Given the description of an element on the screen output the (x, y) to click on. 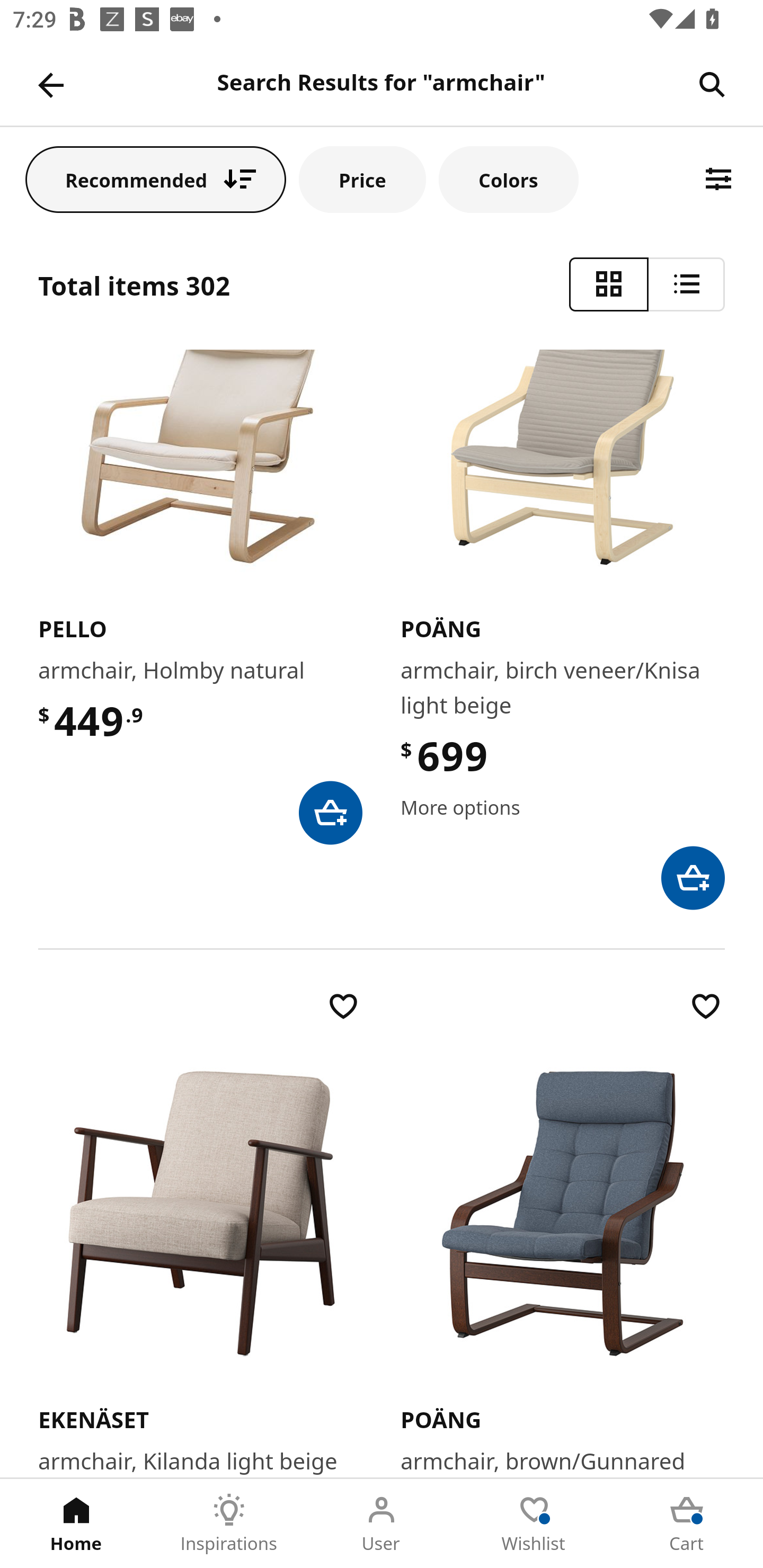
Recommended (155, 179)
Price (362, 179)
Colors (508, 179)
​P​E​L​L​O​
armchair, Holmby natural
$
449
.9 (200, 597)
Home
Tab 1 of 5 (76, 1522)
Inspirations
Tab 2 of 5 (228, 1522)
User
Tab 3 of 5 (381, 1522)
Wishlist
Tab 4 of 5 (533, 1522)
Cart
Tab 5 of 5 (686, 1522)
